Given the description of an element on the screen output the (x, y) to click on. 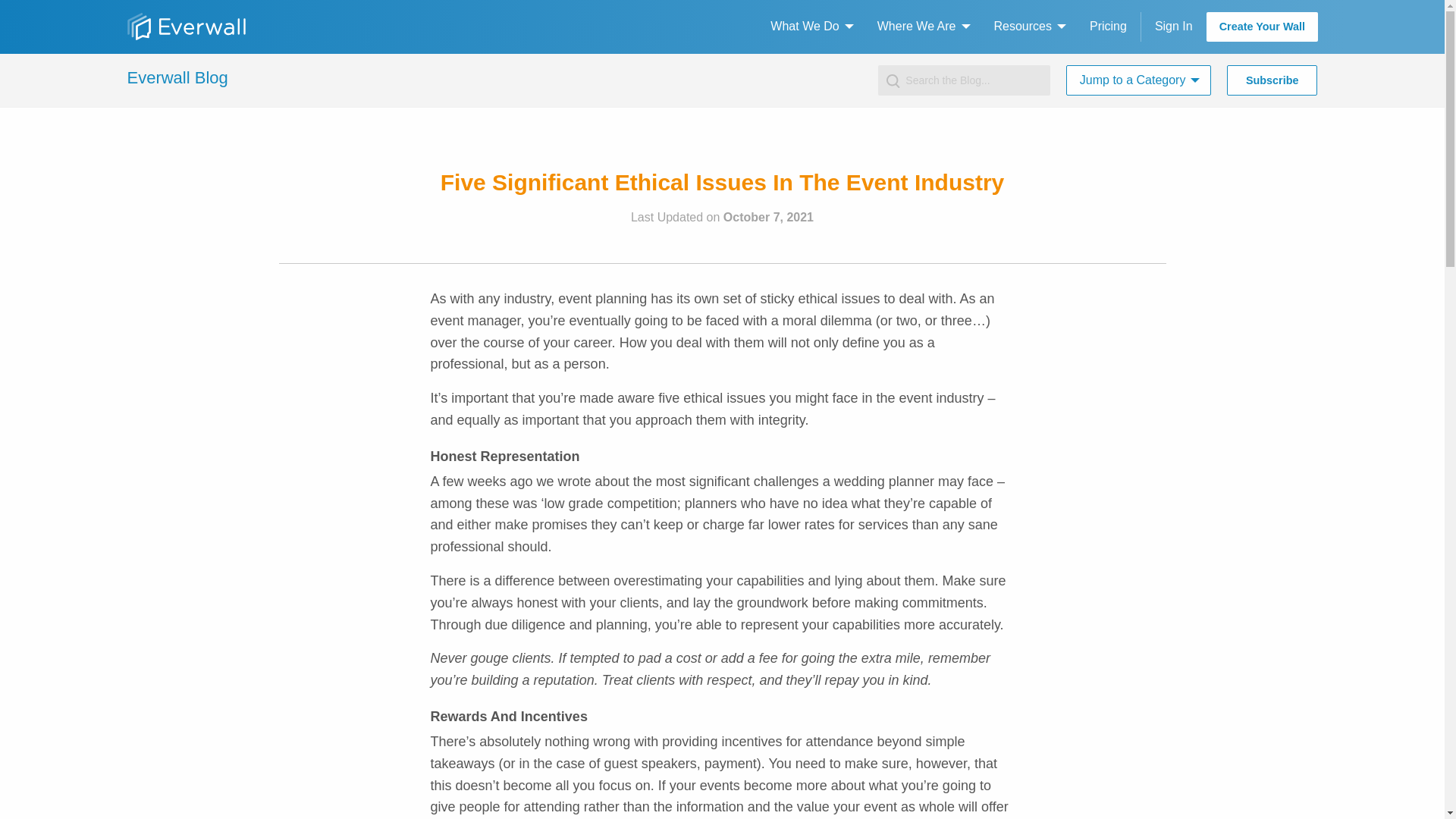
Create Your Wall (1261, 26)
Where We Are (919, 26)
Sign In (1172, 26)
Resources (1024, 26)
Jump to a Category (1135, 80)
Search (30, 15)
Everwall Blog (178, 76)
What We Do (807, 26)
Pricing (1107, 26)
